Given the description of an element on the screen output the (x, y) to click on. 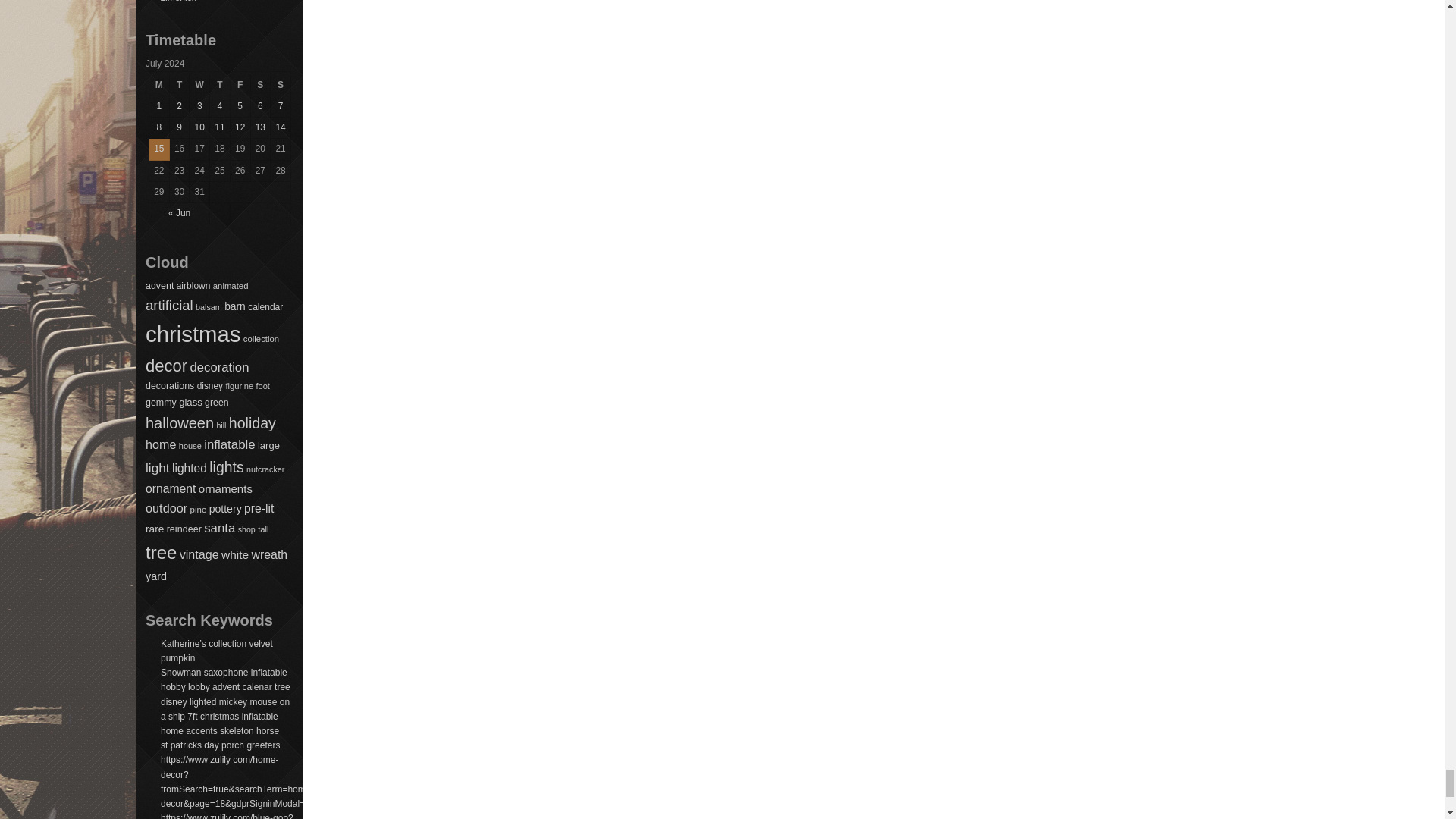
Friday (240, 85)
Wednesday (199, 85)
Tuesday (180, 85)
Saturday (260, 85)
Sunday (280, 85)
Monday (159, 85)
Thursday (219, 85)
